Given the description of an element on the screen output the (x, y) to click on. 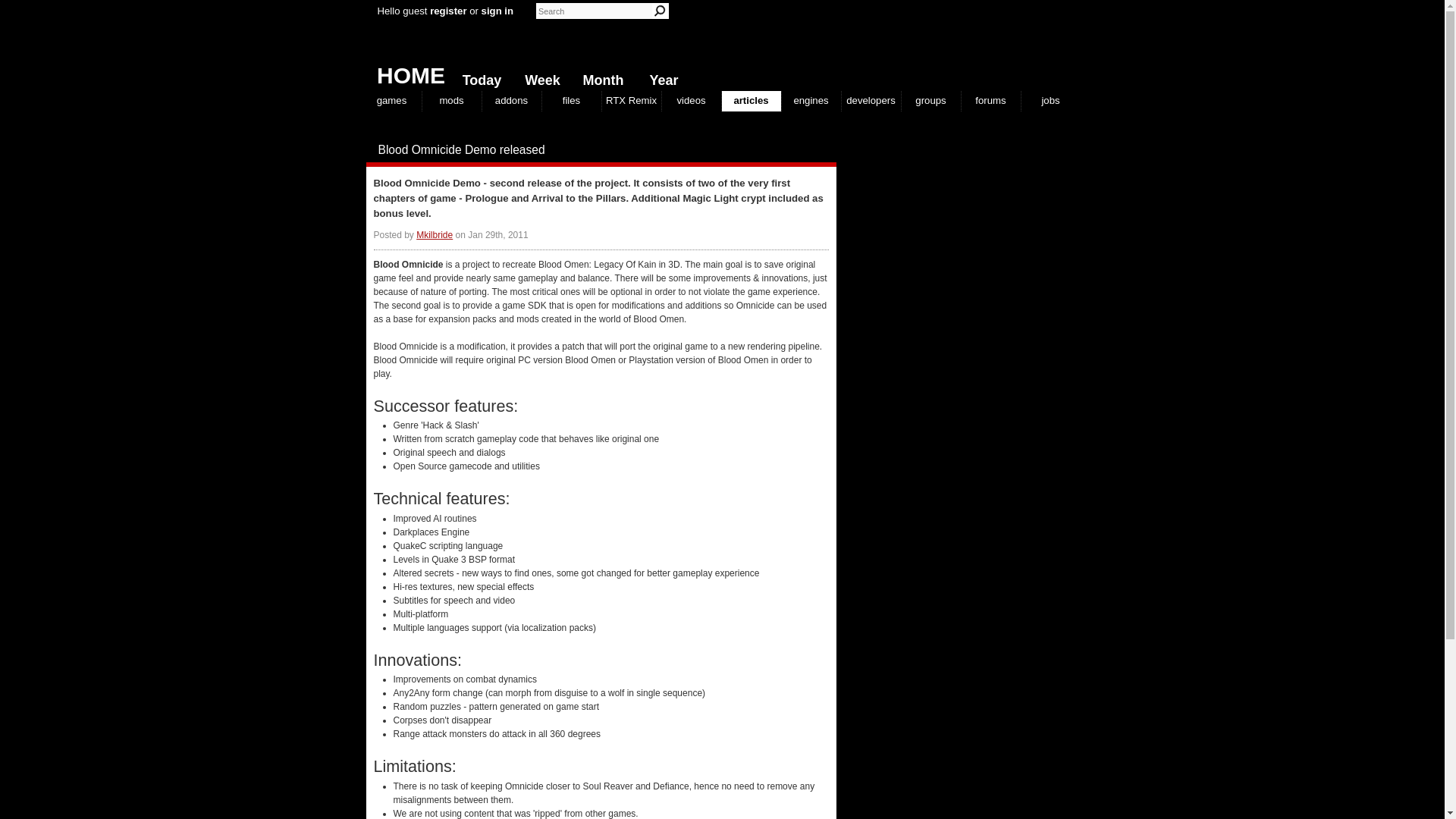
games (392, 100)
HOME (405, 71)
RTX Remix (631, 100)
New this month (599, 76)
Post news (797, 150)
Year (660, 76)
register (447, 10)
New today (478, 76)
RSS (828, 150)
sign in (497, 10)
